Given the description of an element on the screen output the (x, y) to click on. 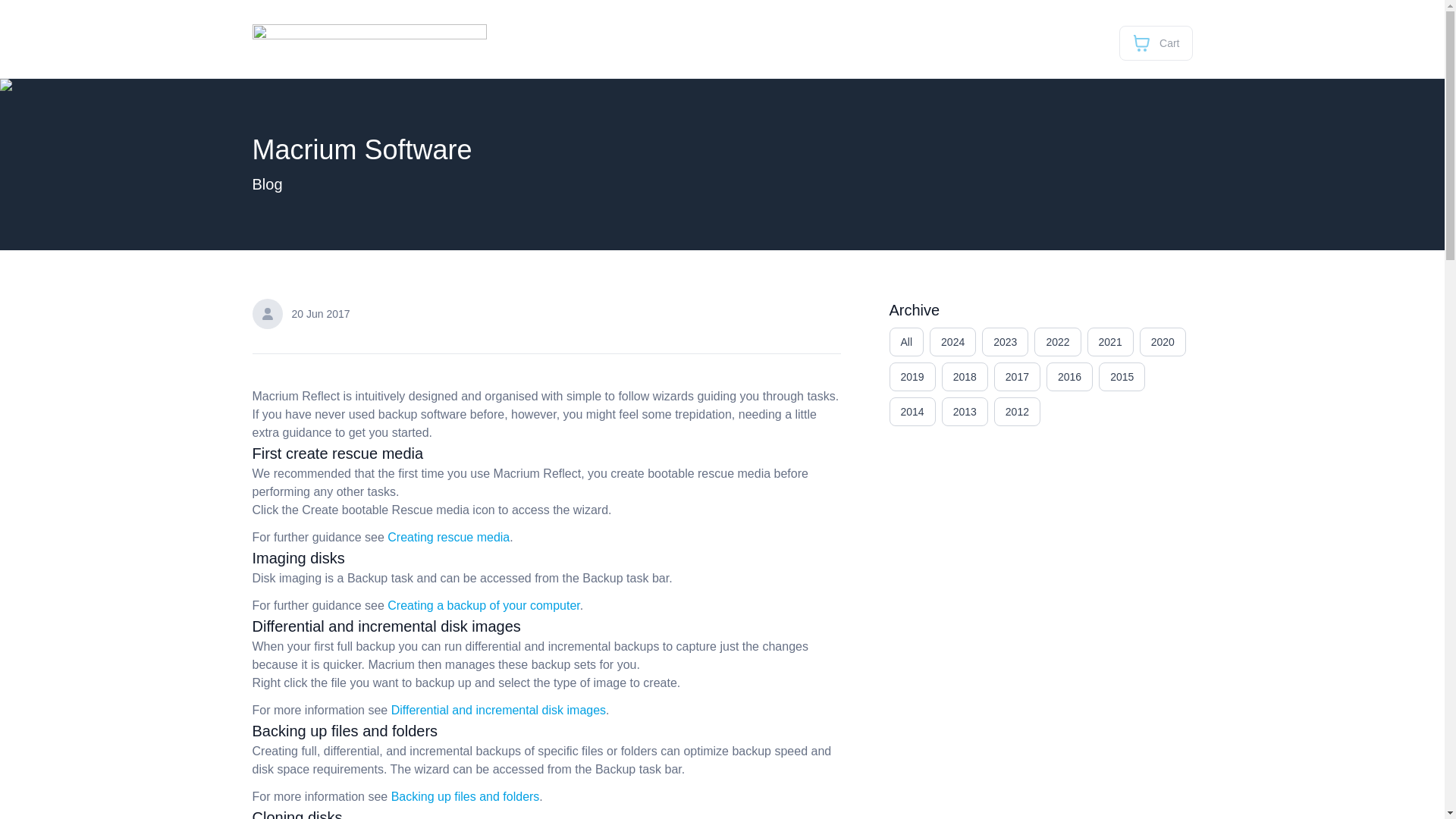
2019 (911, 376)
2016 (1069, 376)
2022 (1056, 341)
Creating rescue media (448, 536)
Backing up files and folders (465, 796)
Creating a backup of your computer (483, 604)
2023 (1004, 341)
2018 (965, 376)
Differential and incremental disk images (498, 709)
2014 (911, 411)
Cart (1155, 42)
2021 (1110, 341)
All (905, 341)
2013 (965, 411)
2017 (1017, 376)
